Given the description of an element on the screen output the (x, y) to click on. 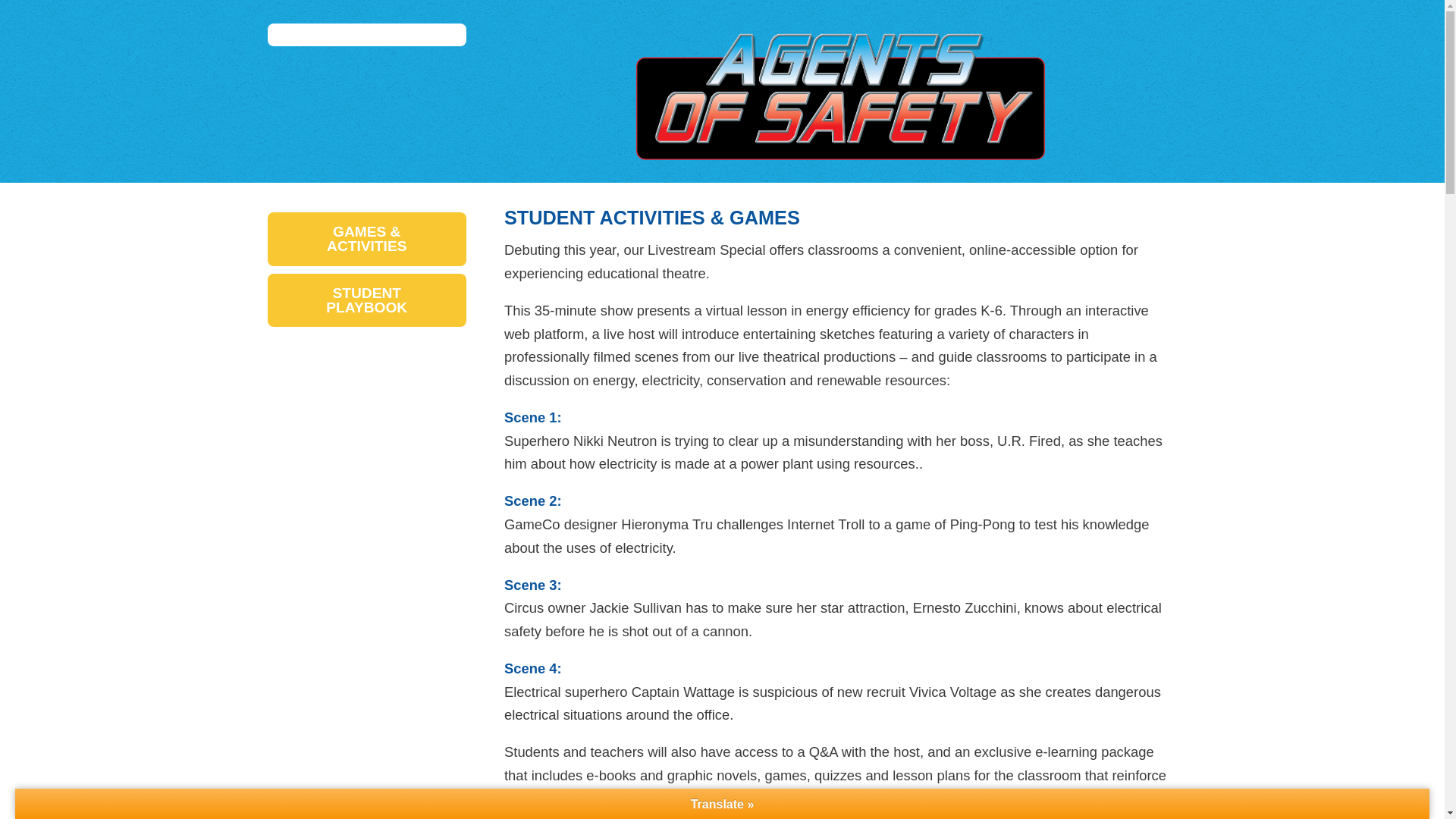
STUDENT PLAYBOOK (365, 299)
